Given the description of an element on the screen output the (x, y) to click on. 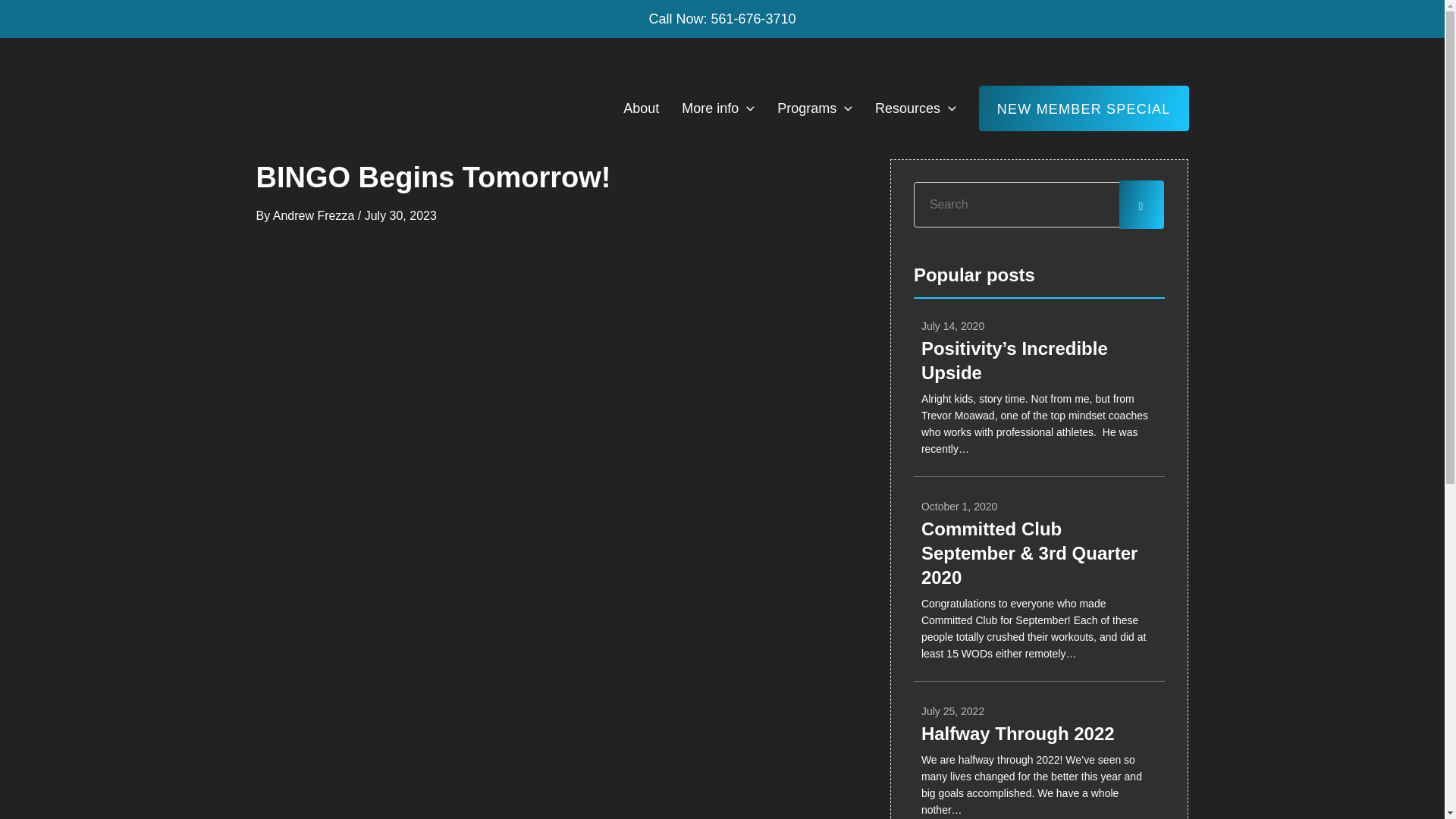
More info (717, 108)
Andrew Frezza (315, 215)
View all posts by Andrew Frezza (315, 215)
561-676-3710 (752, 18)
About (640, 108)
Resources (915, 108)
NEW MEMBER SPECIAL (1083, 108)
Programs (1039, 727)
